Given the description of an element on the screen output the (x, y) to click on. 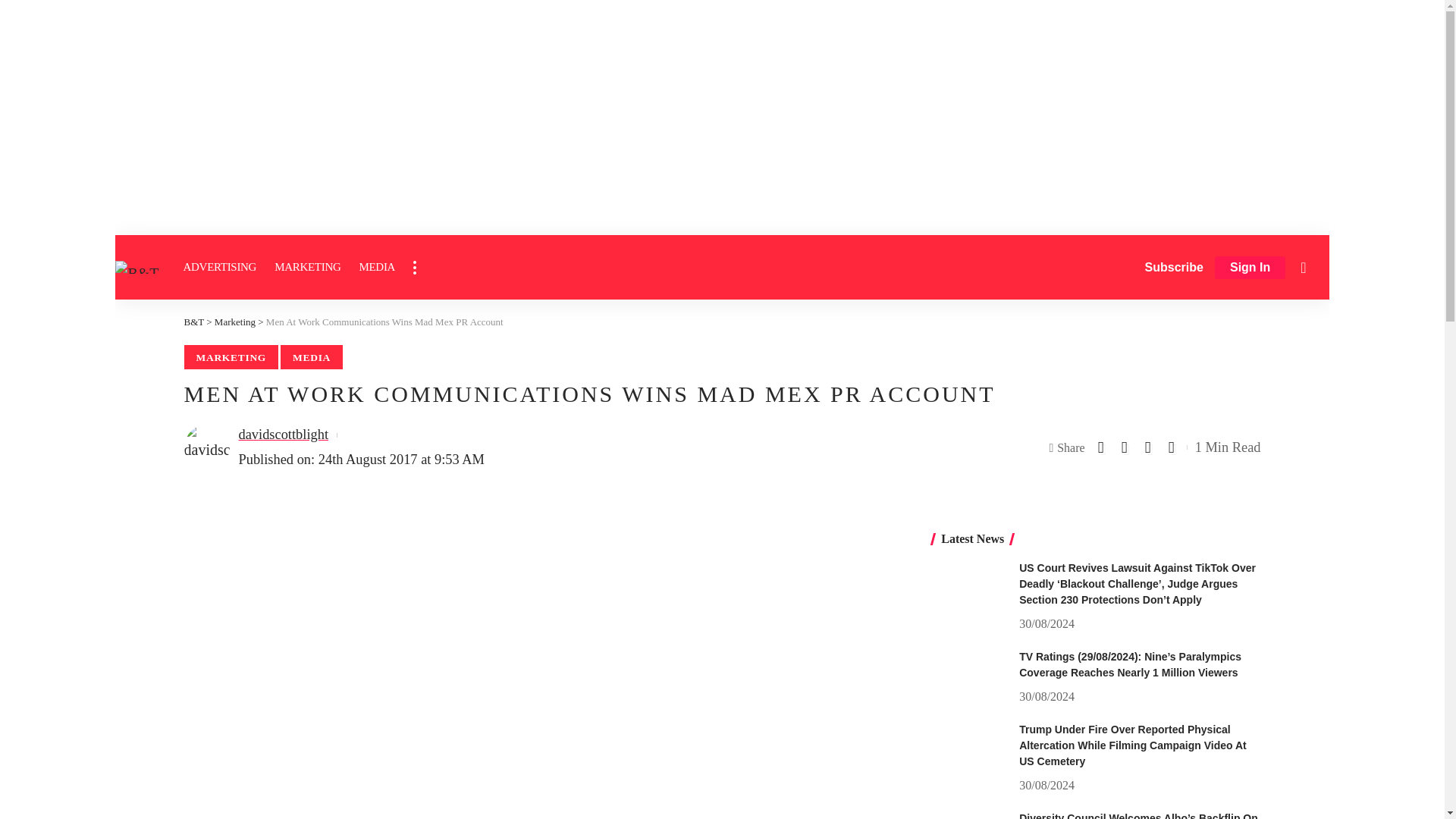
MARKETING (306, 267)
Go to the Marketing Category archives. (235, 321)
ADVERTISING (220, 267)
Sign In (1249, 267)
Subscribe (1174, 267)
